Given the description of an element on the screen output the (x, y) to click on. 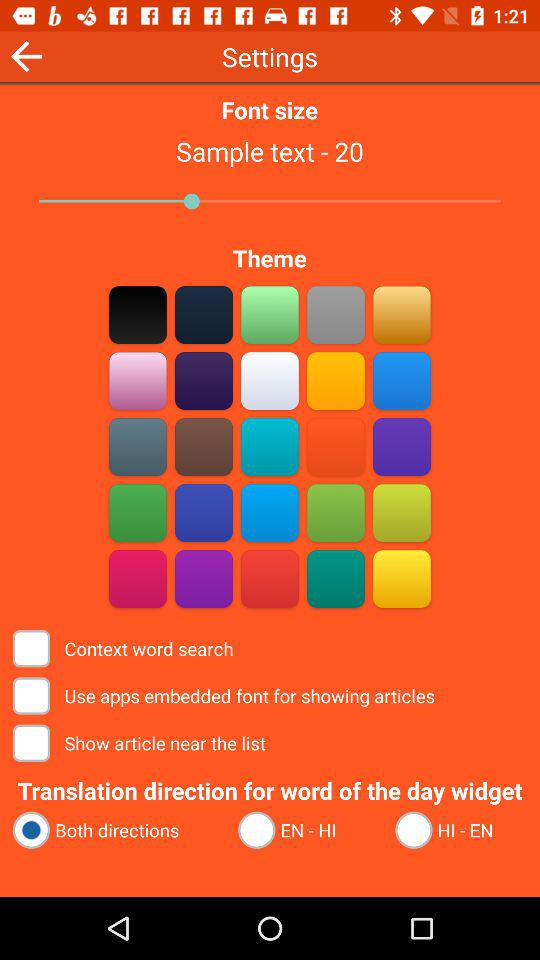
jump until the context word search checkbox (124, 648)
